Given the description of an element on the screen output the (x, y) to click on. 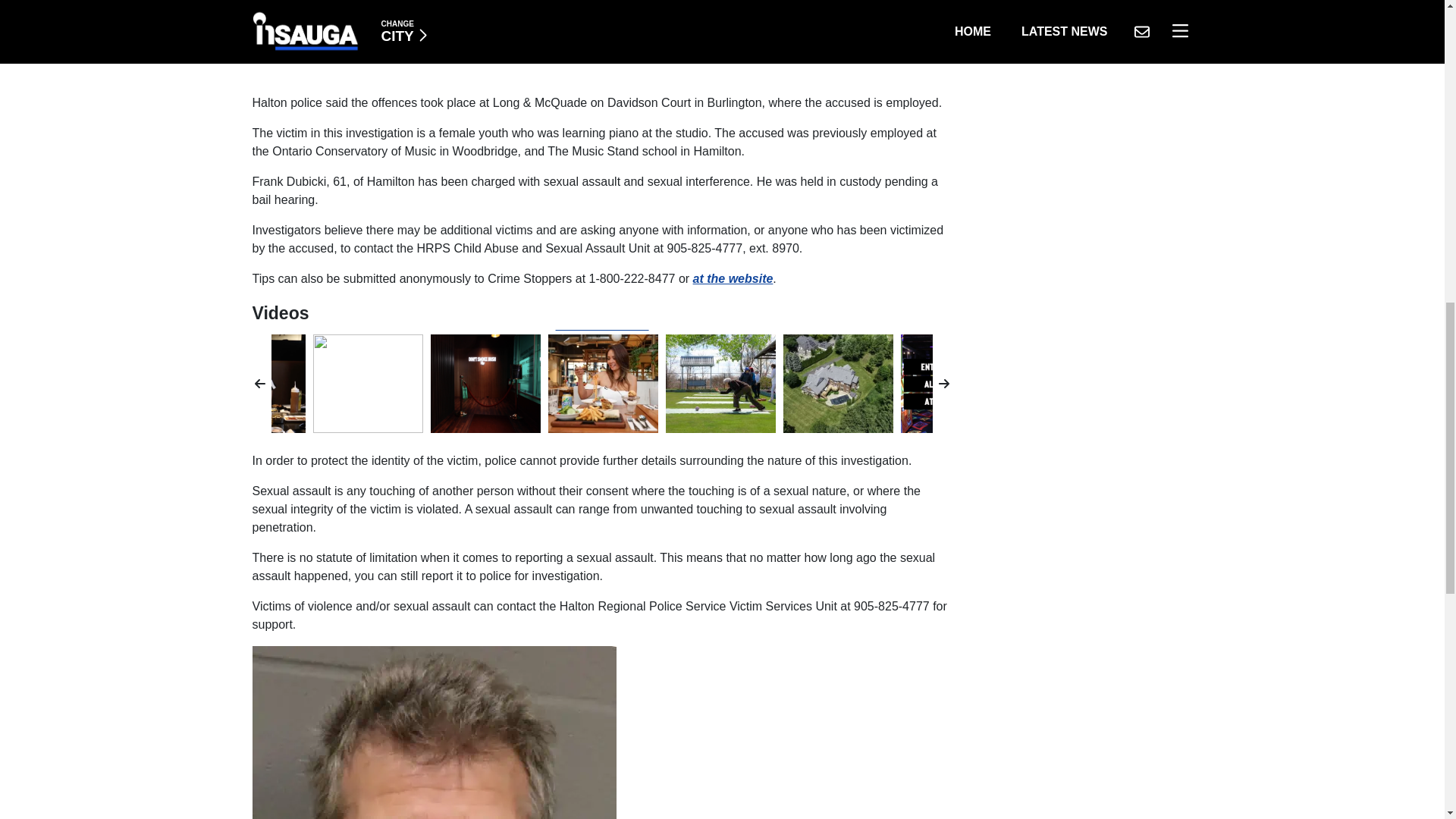
3rd party ad content (601, 39)
